Given the description of an element on the screen output the (x, y) to click on. 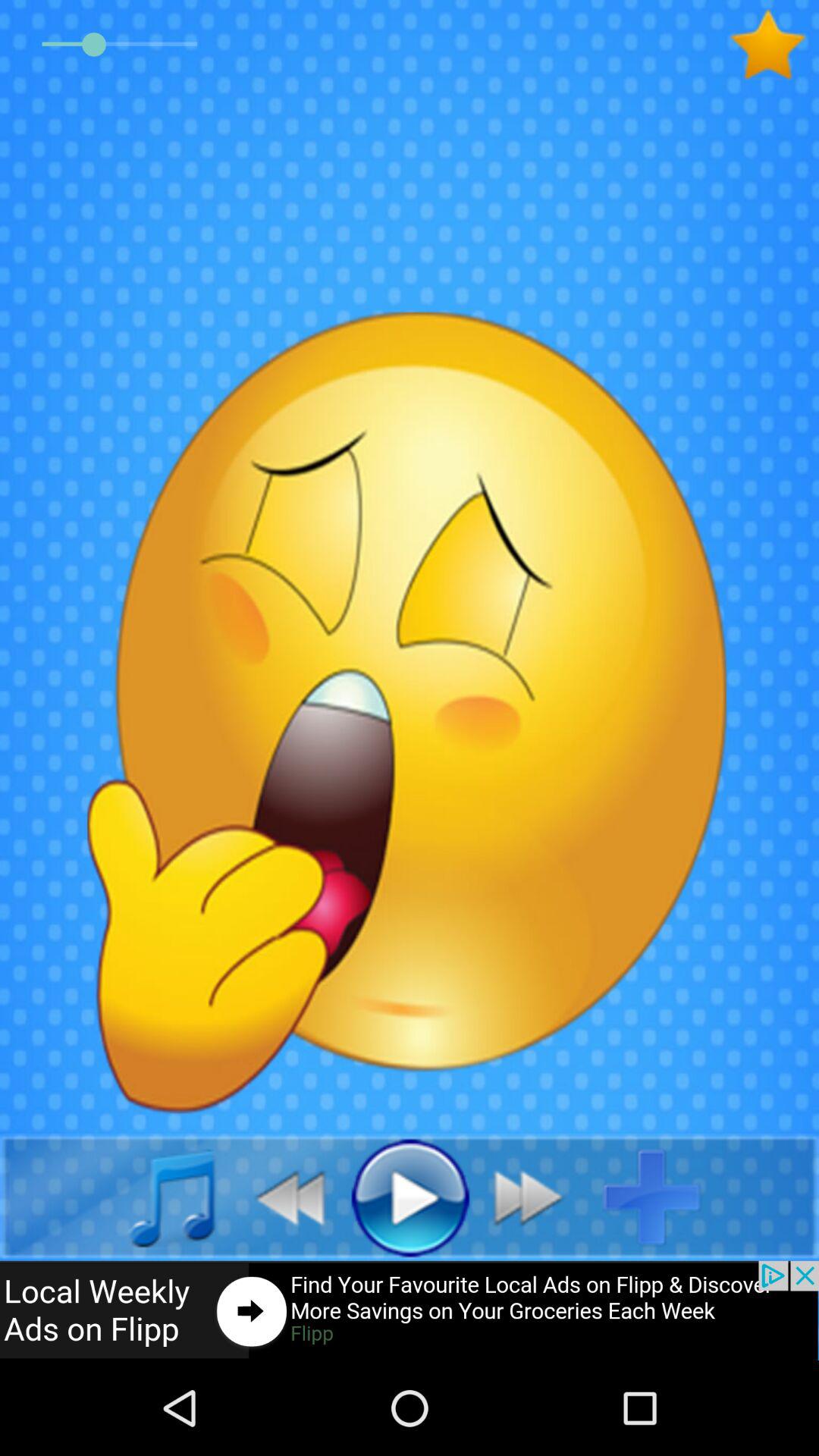
know about the advertisement (409, 1310)
